Given the description of an element on the screen output the (x, y) to click on. 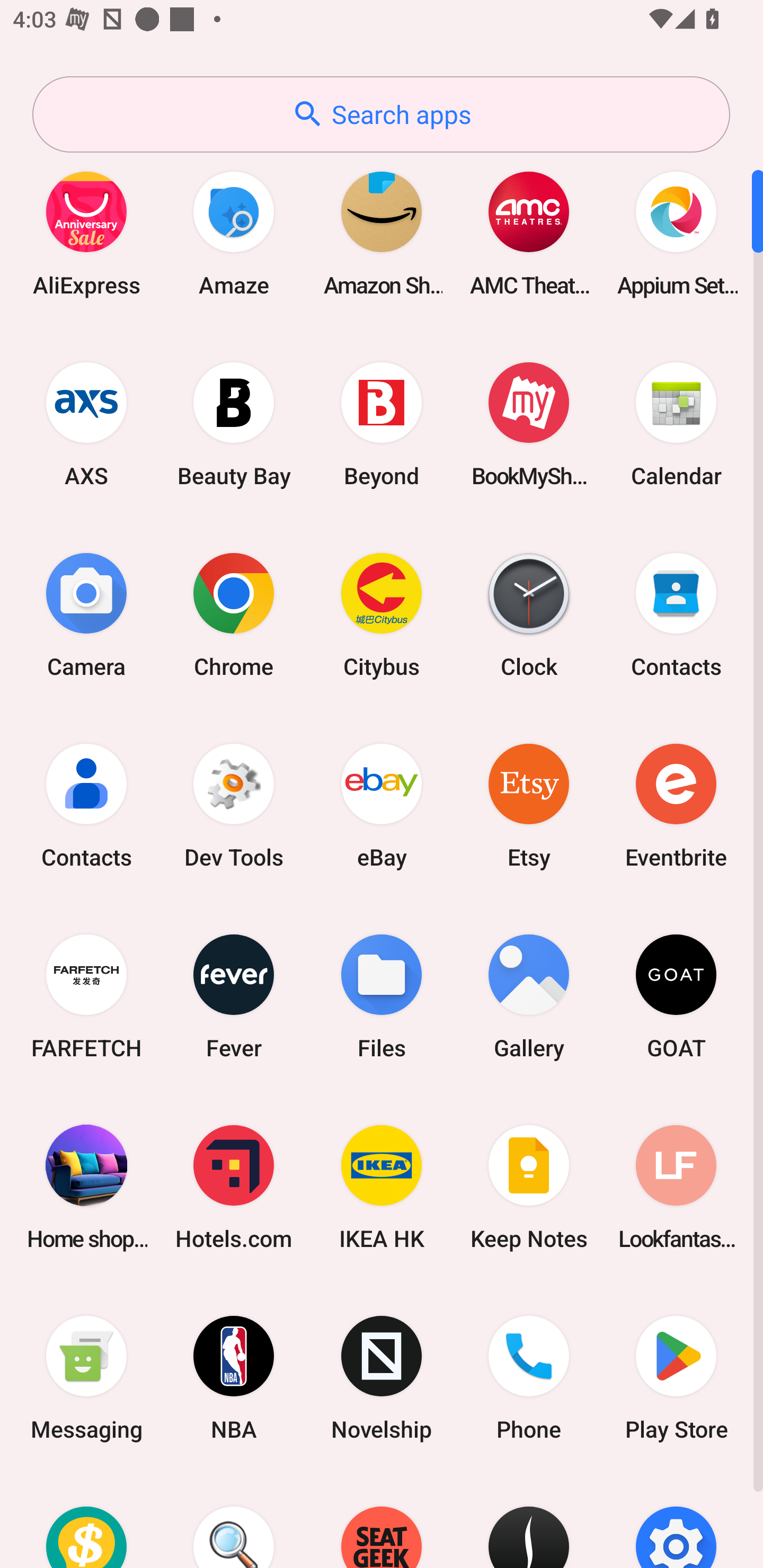
  Search apps (381, 114)
AliExpress (86, 233)
Amaze (233, 233)
Amazon Shopping (381, 233)
AMC Theatres (528, 233)
Appium Settings (676, 233)
AXS (86, 424)
Beauty Bay (233, 424)
Beyond (381, 424)
BookMyShow (528, 424)
Calendar (676, 424)
Camera (86, 614)
Chrome (233, 614)
Citybus (381, 614)
Clock (528, 614)
Contacts (676, 614)
Contacts (86, 805)
Dev Tools (233, 805)
eBay (381, 805)
Etsy (528, 805)
Eventbrite (676, 805)
FARFETCH (86, 996)
Fever (233, 996)
Files (381, 996)
Gallery (528, 996)
GOAT (676, 996)
Home shopping (86, 1186)
Hotels.com (233, 1186)
IKEA HK (381, 1186)
Keep Notes (528, 1186)
Lookfantastic (676, 1186)
Messaging (86, 1377)
NBA (233, 1377)
Novelship (381, 1377)
Phone (528, 1377)
Play Store (676, 1377)
Price (86, 1520)
Search (233, 1520)
SeatGeek (381, 1520)
Sephora (528, 1520)
Settings (676, 1520)
